Given the description of an element on the screen output the (x, y) to click on. 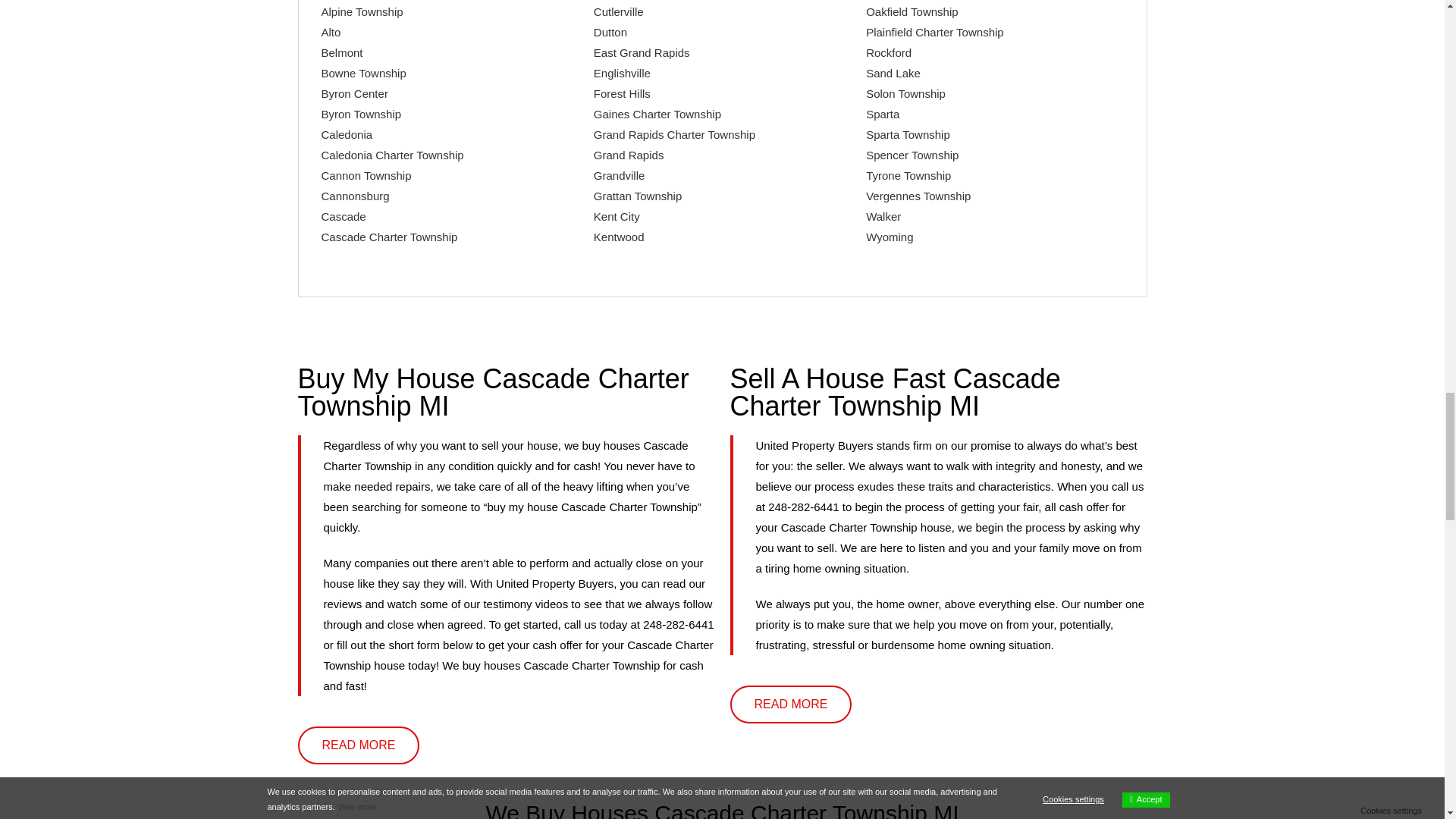
Caledonia (346, 133)
Alto (330, 31)
Byron Township (361, 113)
Cannon Township (366, 174)
Bowne Township (363, 72)
Belmont (341, 51)
Byron Center (354, 92)
Alpine Township (362, 11)
Cannonsburg (355, 195)
Caledonia Charter Township (392, 154)
Cascade Charter Township (389, 236)
Cascade (343, 215)
